Given the description of an element on the screen output the (x, y) to click on. 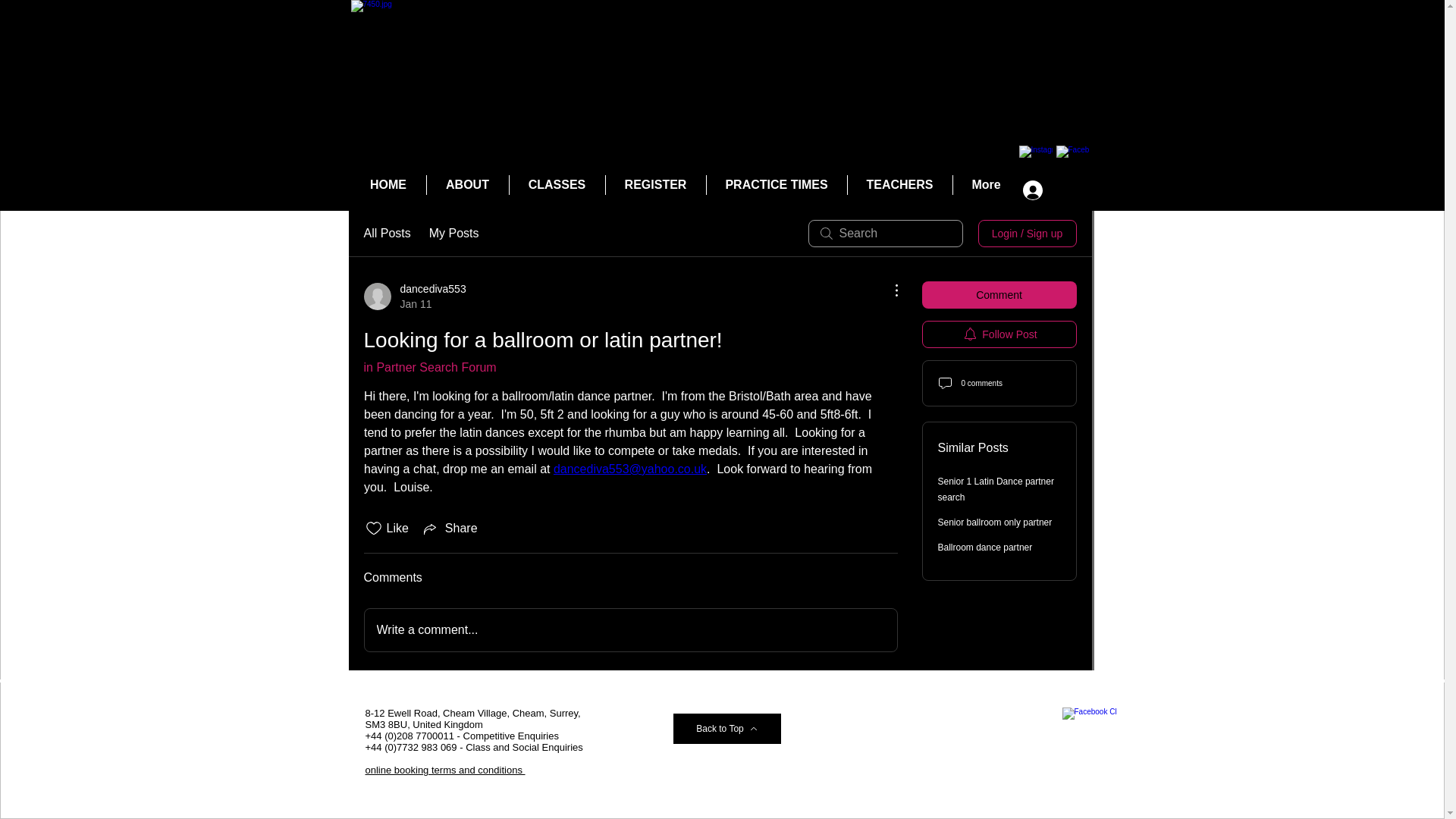
ABOUT (467, 184)
Back to Top (414, 296)
Senior ballroom only partner (726, 728)
HOME (994, 521)
TEACHERS (387, 184)
Senior 1 Latin Dance partner search (899, 184)
Privacy Policy (994, 488)
REGISTER (395, 797)
CLASSES (654, 184)
PRACTICE TIMES (557, 184)
Ballroom dance partner (776, 184)
online booking terms and conditions  (984, 547)
Write a comment... (445, 769)
Share (630, 630)
